Given the description of an element on the screen output the (x, y) to click on. 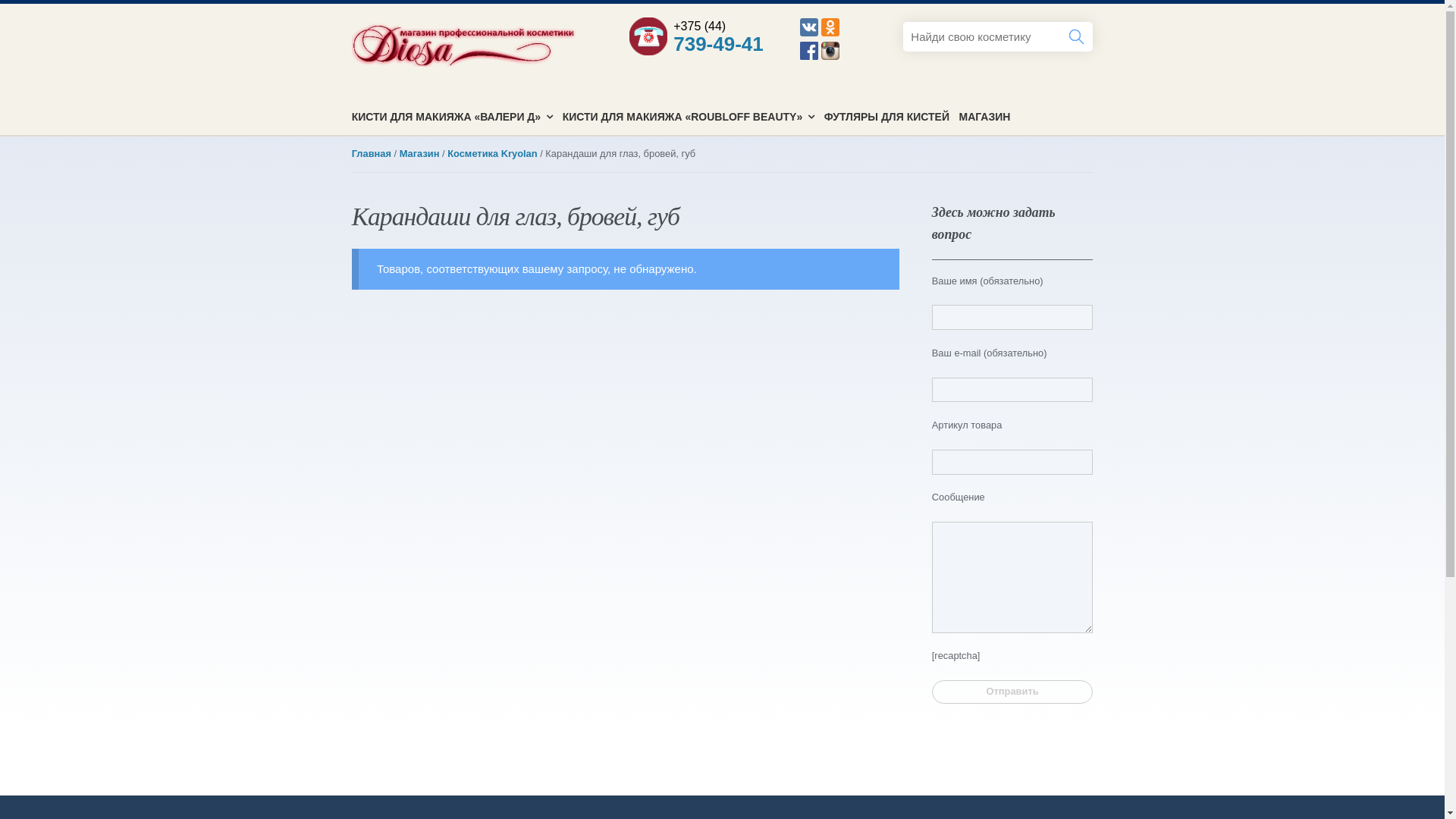
739-49-41 Element type: text (718, 42)
